Given the description of an element on the screen output the (x, y) to click on. 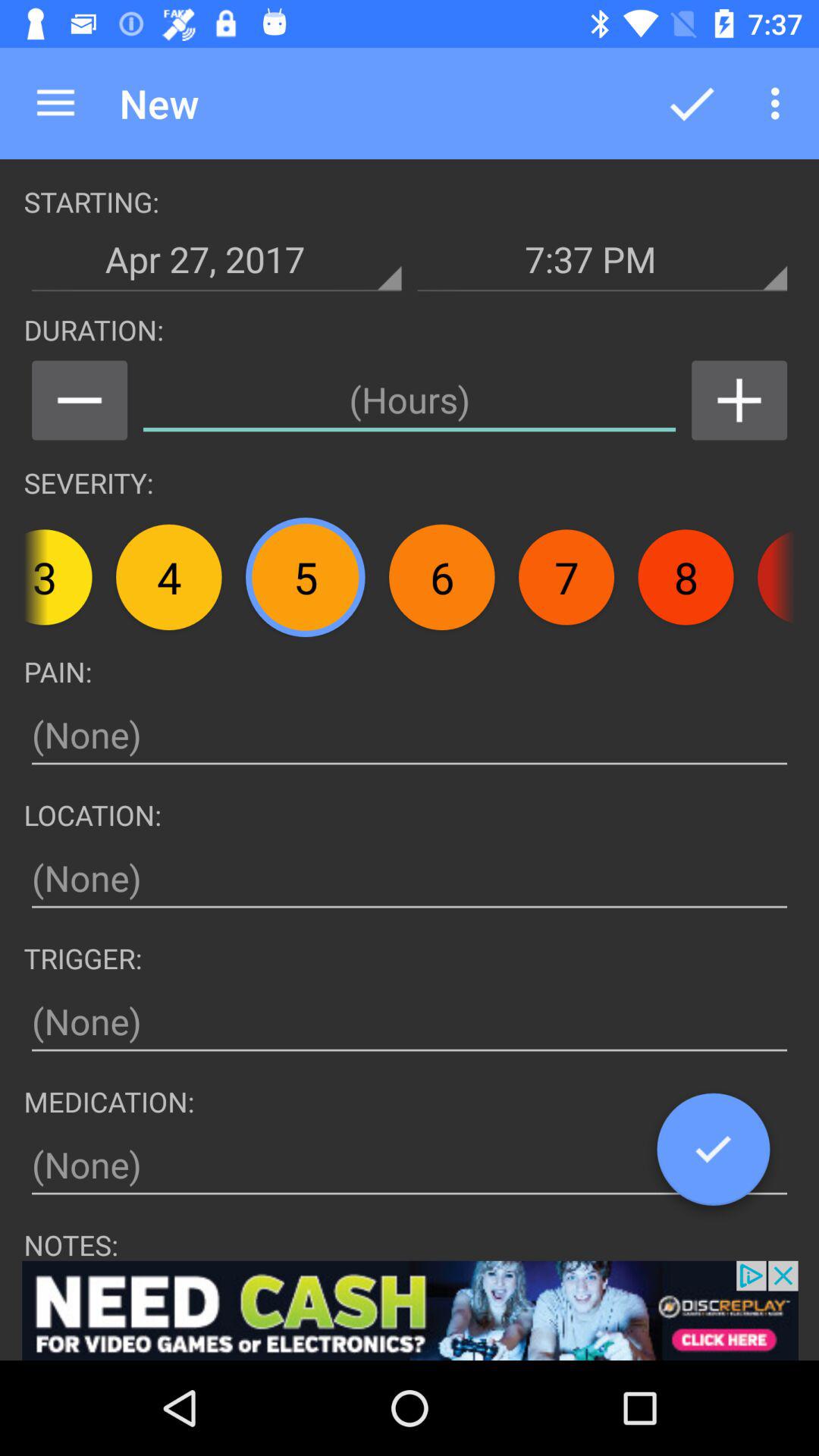
add duration in hours (409, 400)
